Given the description of an element on the screen output the (x, y) to click on. 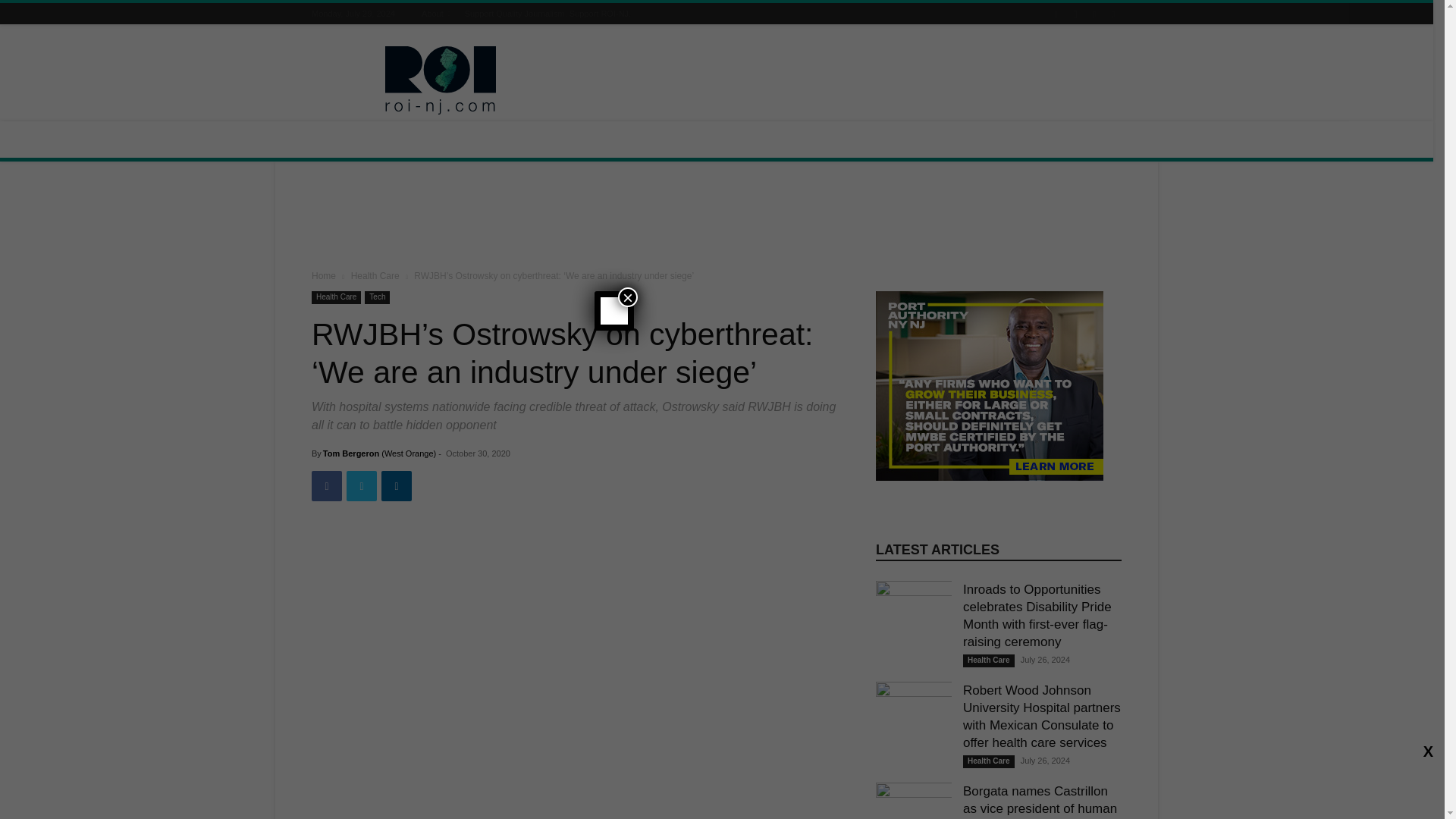
3rd party ad content (716, 218)
Facebook (326, 485)
Twitter (361, 485)
3rd party ad content (845, 79)
Linkedin (396, 485)
View all posts in Health Care (374, 276)
